Given the description of an element on the screen output the (x, y) to click on. 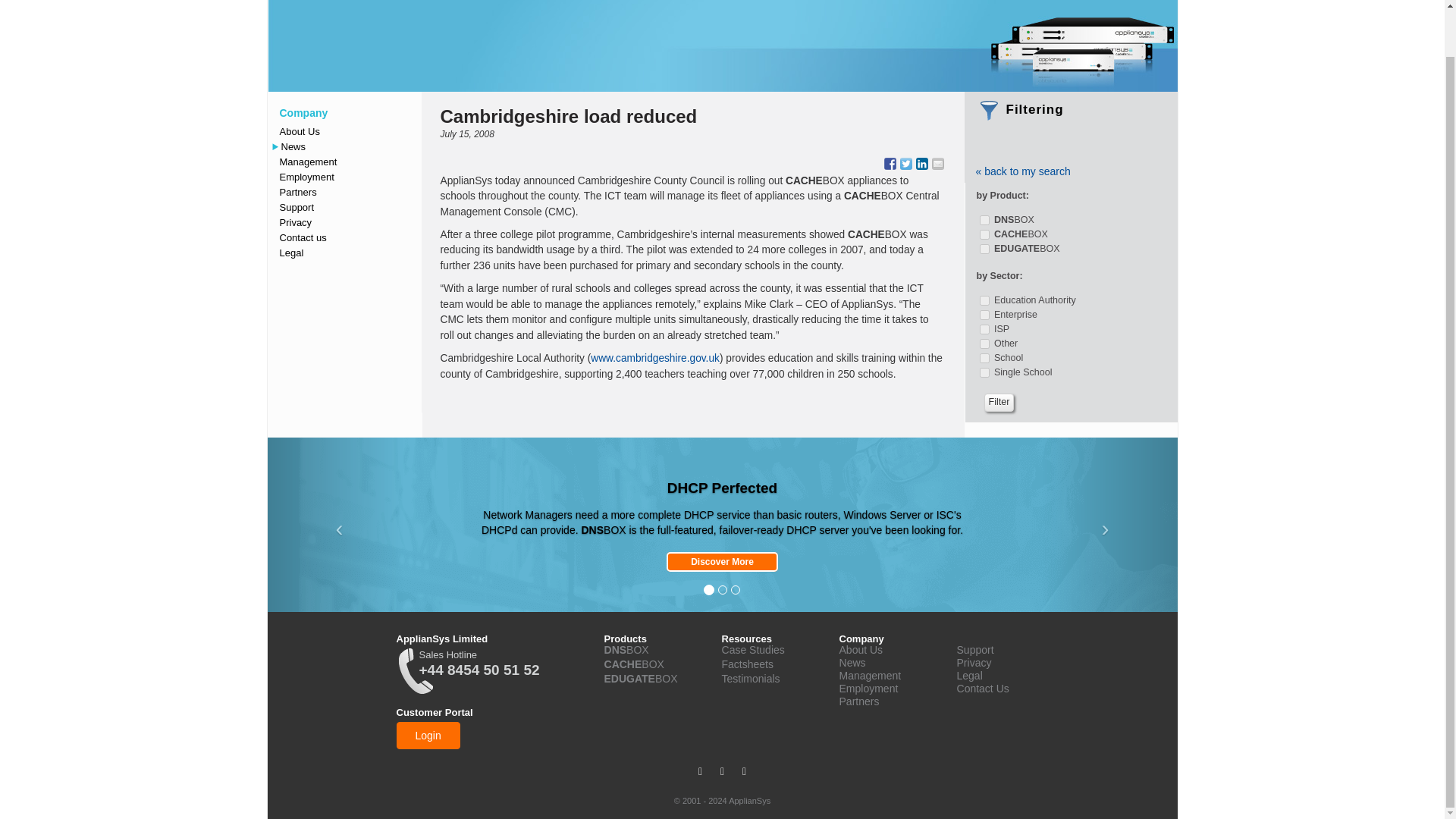
Share on Facebook (889, 163)
other (984, 343)
isp (984, 329)
single-school (984, 372)
Company (303, 112)
dnsbox (984, 220)
Share by email (937, 163)
Share on Twitter (905, 163)
enterprise (984, 315)
edugatebox (984, 248)
